Given the description of an element on the screen output the (x, y) to click on. 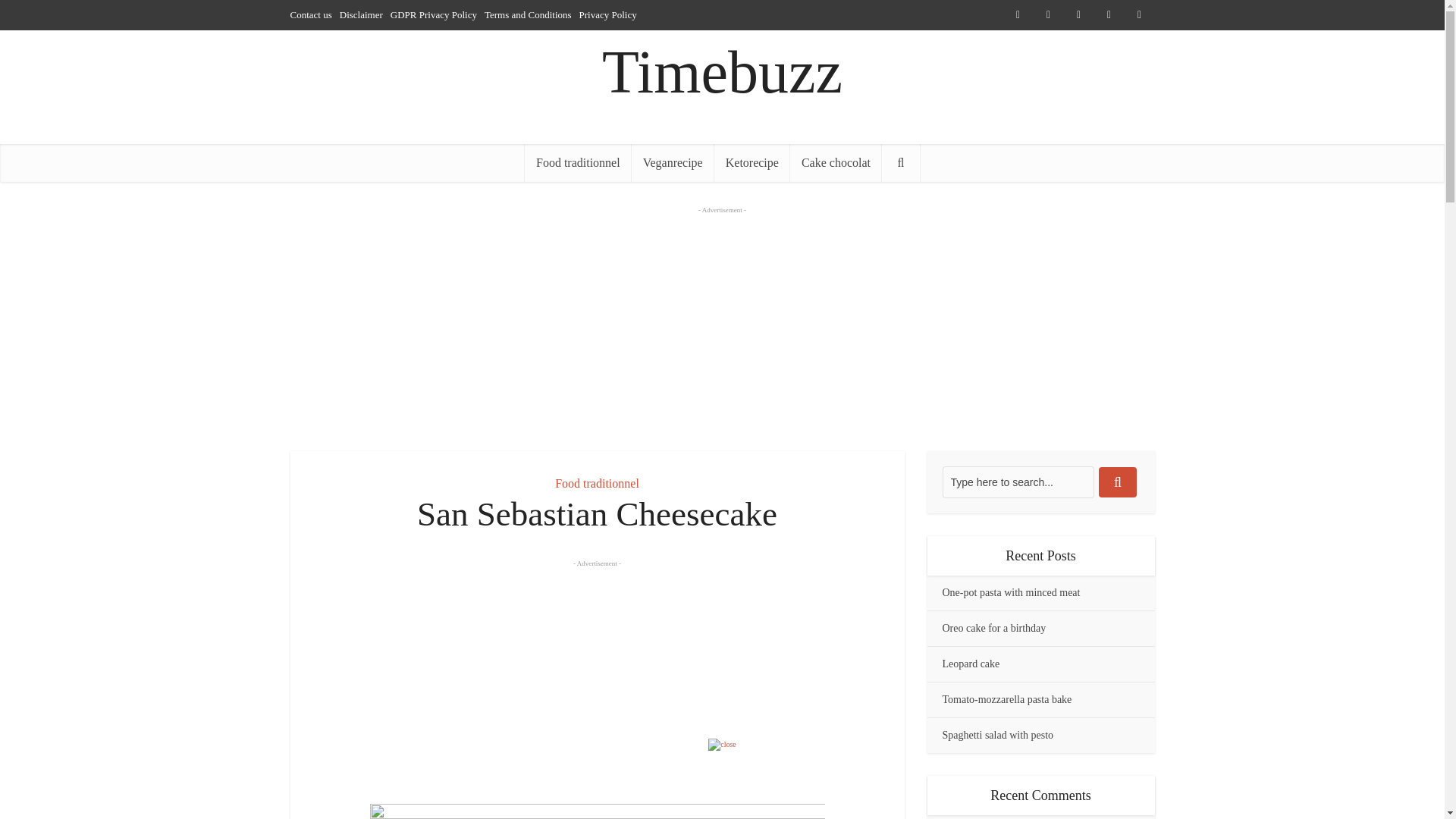
Veganrecipe (672, 162)
Disclaimer (360, 14)
Timebuzz (722, 71)
Food traditionnel (577, 162)
close button (721, 744)
GDPR Privacy Policy (433, 14)
Cake chocolat (836, 162)
Type here to search... (1017, 481)
Type here to search... (1017, 481)
Food traditionnel (596, 482)
